Given the description of an element on the screen output the (x, y) to click on. 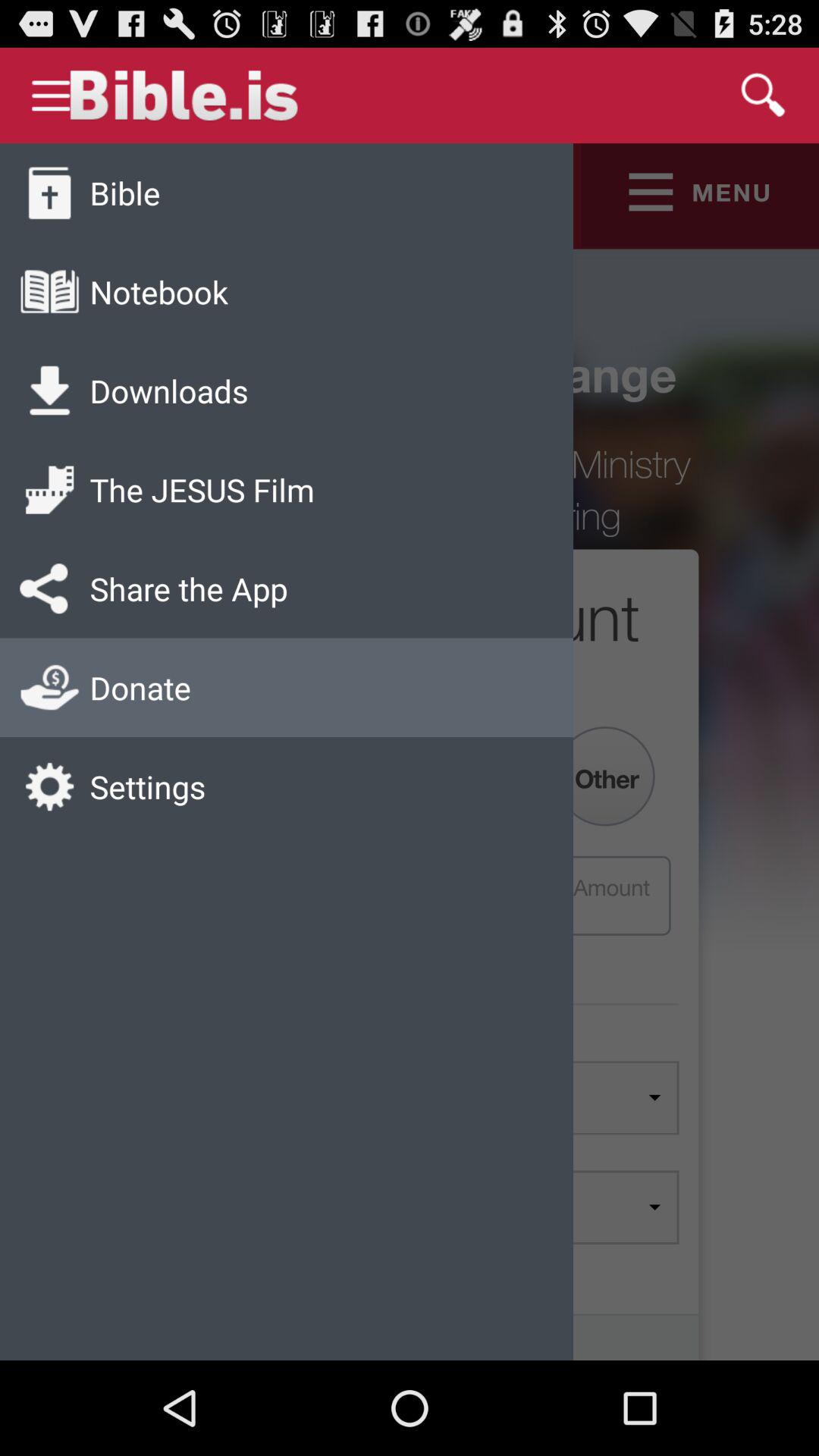
launch app above the notebook (124, 192)
